Given the description of an element on the screen output the (x, y) to click on. 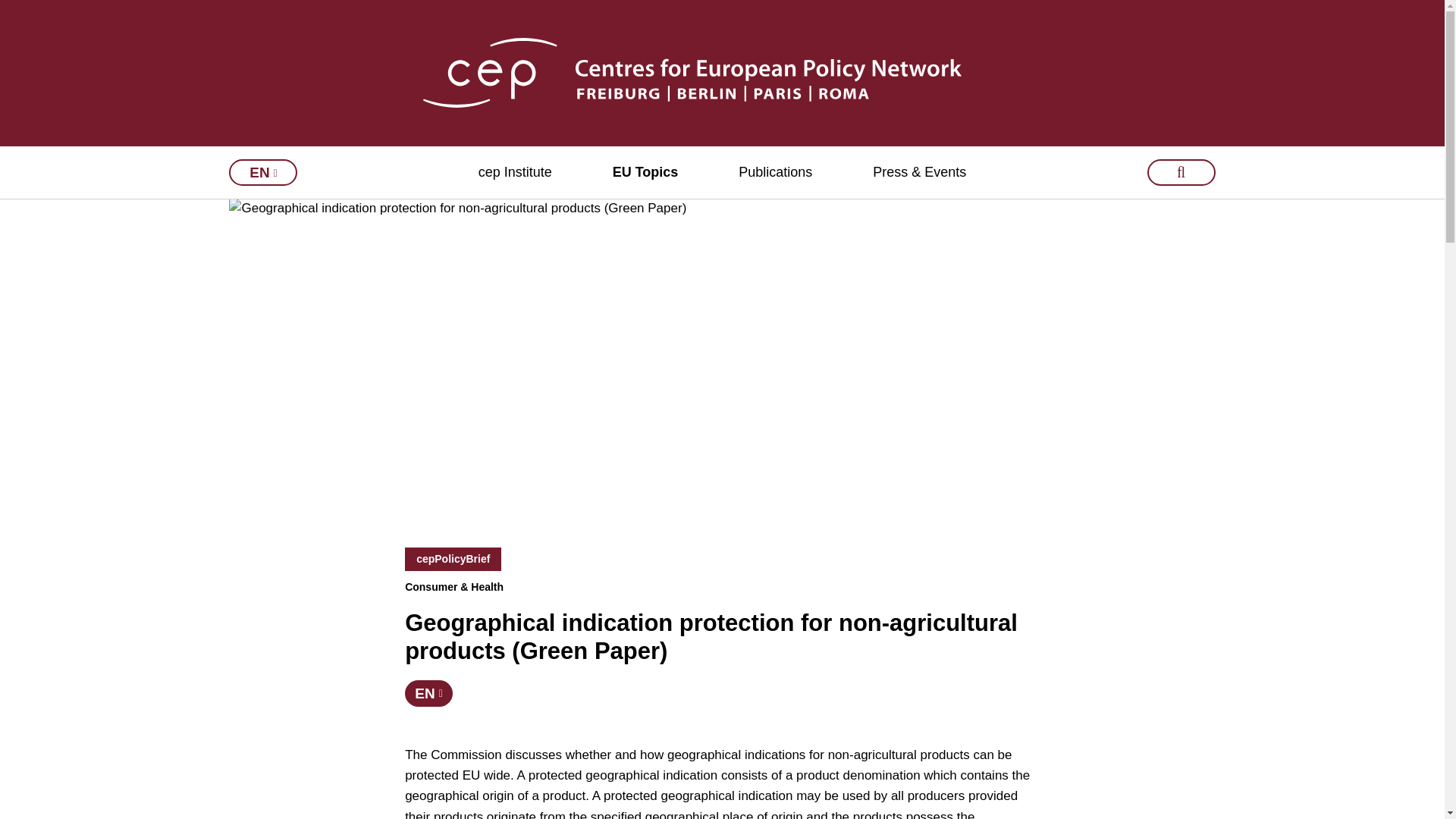
Publications (775, 172)
cep - Centre for European Policy Network (722, 72)
EU Topics (645, 172)
cep Institute (515, 172)
cep Institute (515, 172)
EU Topics (645, 172)
